Given the description of an element on the screen output the (x, y) to click on. 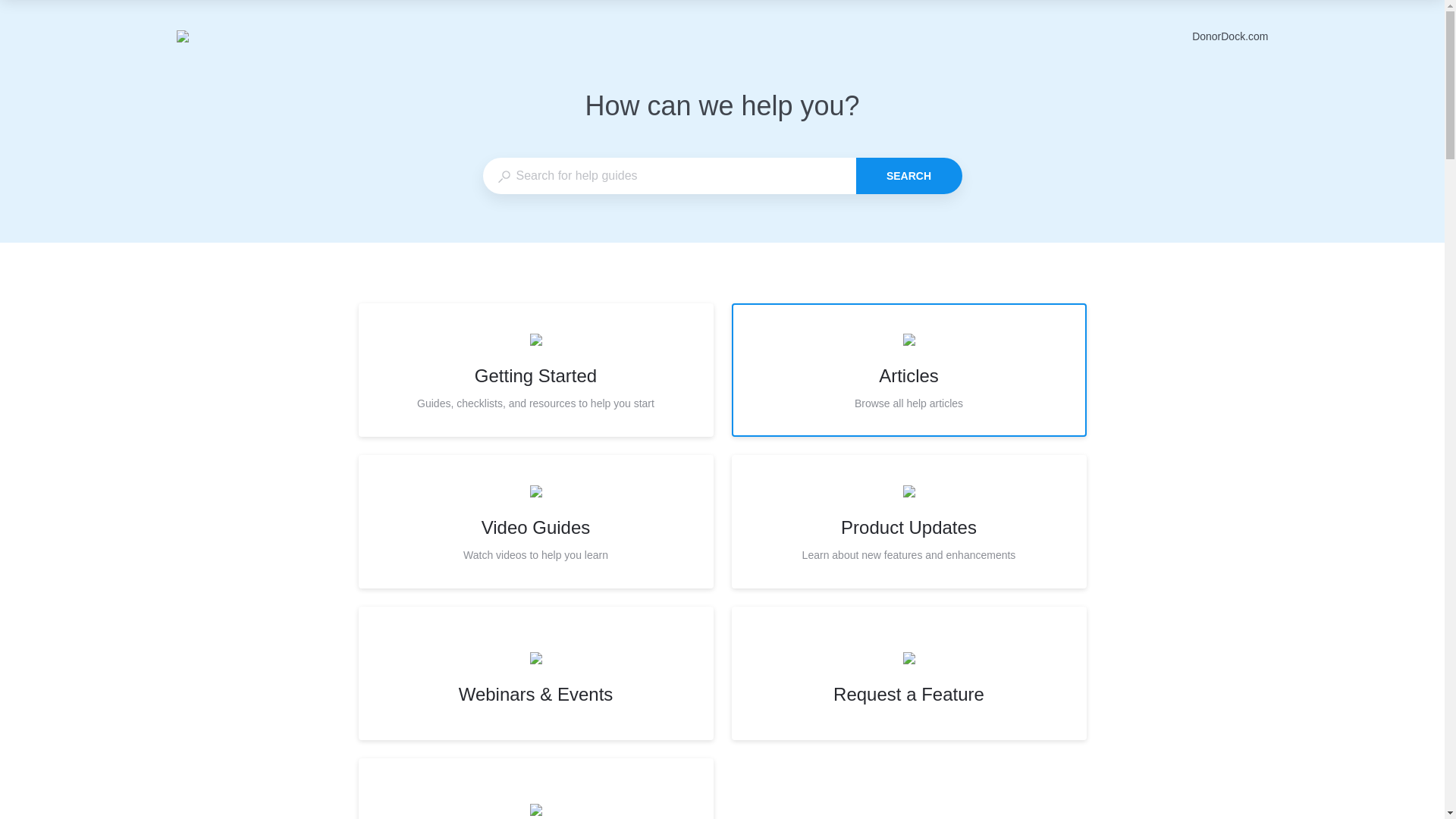
DonorDock.com (908, 369)
Contact Support (1230, 36)
SEARCH (908, 521)
Request a Feature (535, 521)
